Given the description of an element on the screen output the (x, y) to click on. 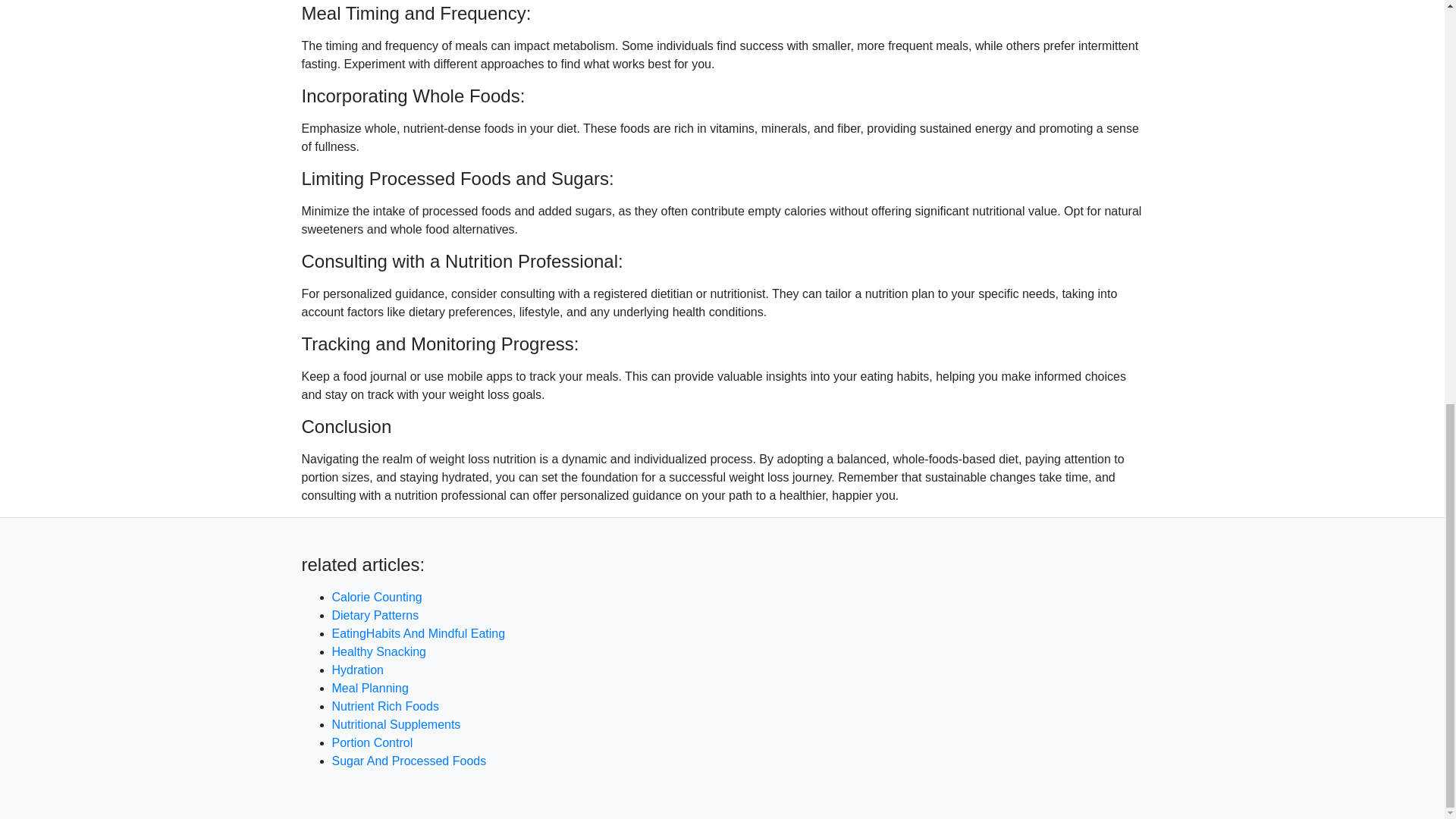
Meal Planning (370, 687)
Dietary Patterns (375, 615)
Sugar And Processed Foods (408, 760)
Healthy Snacking (378, 651)
Nutrient Rich Foods (385, 706)
EatingHabits And Mindful Eating (418, 633)
Portion Control (372, 742)
Hydration (357, 669)
Nutritional Supplements (396, 724)
Calorie Counting (376, 596)
